Given the description of an element on the screen output the (x, y) to click on. 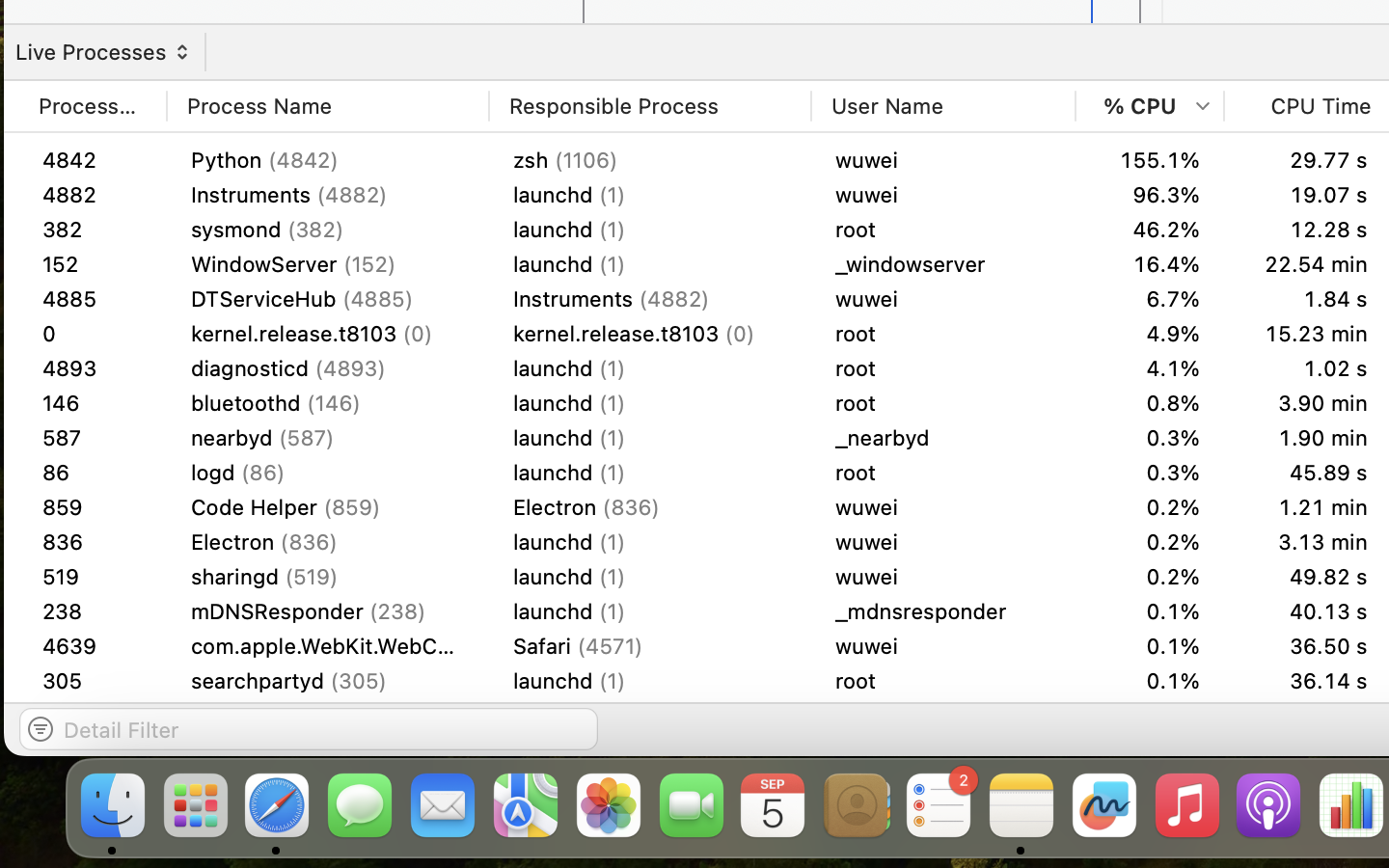
519 Element type: AXStaticText (92, 541)
9.51 s Element type: AXStaticText (1307, 680)
19.8% Element type: AXStaticText (1149, 263)
Instruments (4882) Element type: AXStaticText (649, 472)
0.9% Element type: AXStaticText (1149, 680)
